Given the description of an element on the screen output the (x, y) to click on. 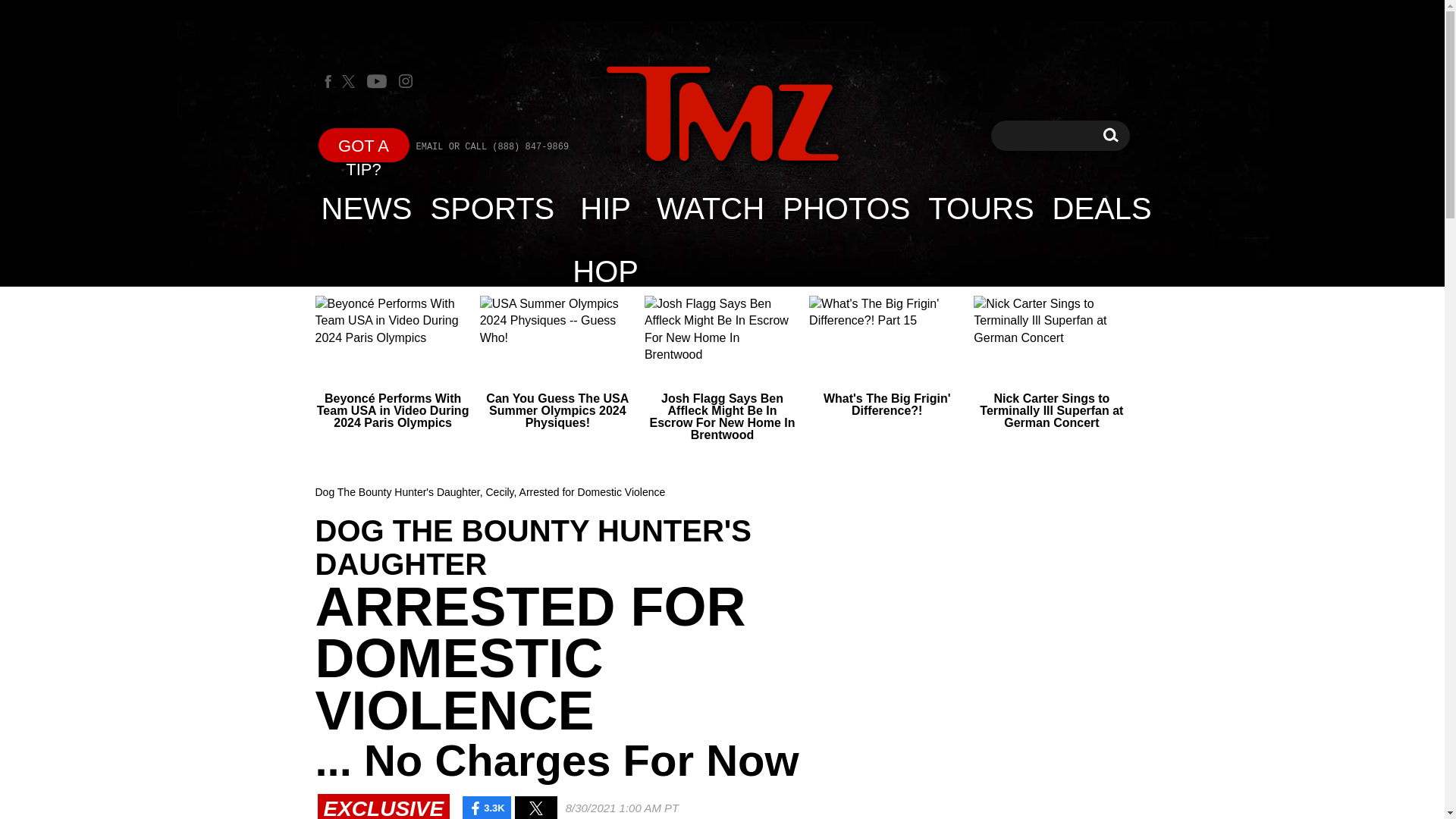
GOT A TIP? (363, 144)
NEWS (1110, 135)
PHOTOS (367, 207)
DEALS (845, 207)
TMZ (1101, 207)
TMZ (722, 113)
SPORTS (722, 115)
Skip to main content (493, 207)
TOURS (605, 207)
Search (980, 207)
WATCH (1110, 134)
